Given the description of an element on the screen output the (x, y) to click on. 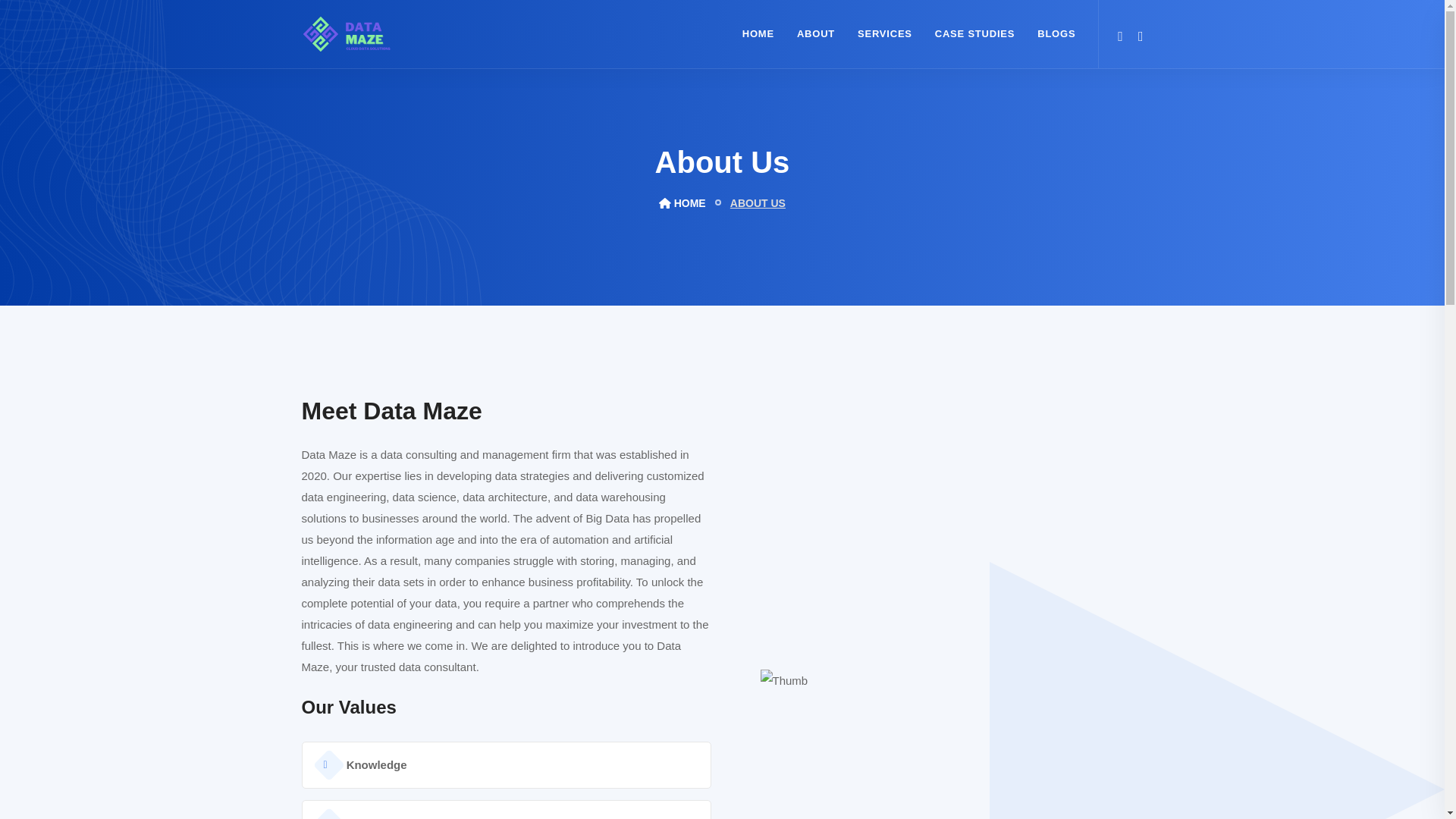
About (815, 33)
ABOUT (815, 33)
Services (884, 33)
HOME (682, 202)
SERVICES (884, 33)
CASE STUDIES (974, 33)
Case Studies (974, 33)
